Given the description of an element on the screen output the (x, y) to click on. 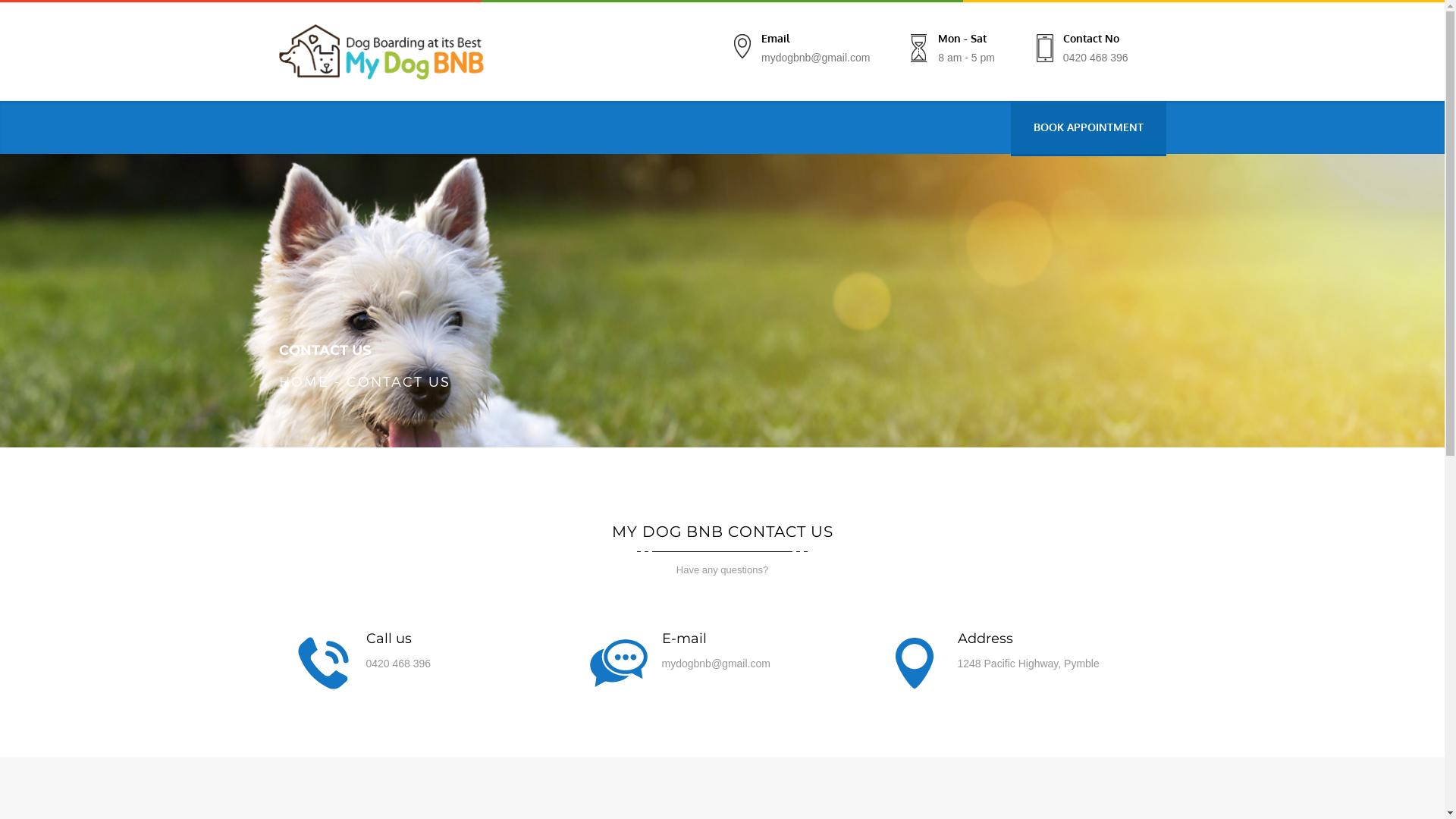
BOOK APPOINTMENT Element type: text (1087, 126)
